Given the description of an element on the screen output the (x, y) to click on. 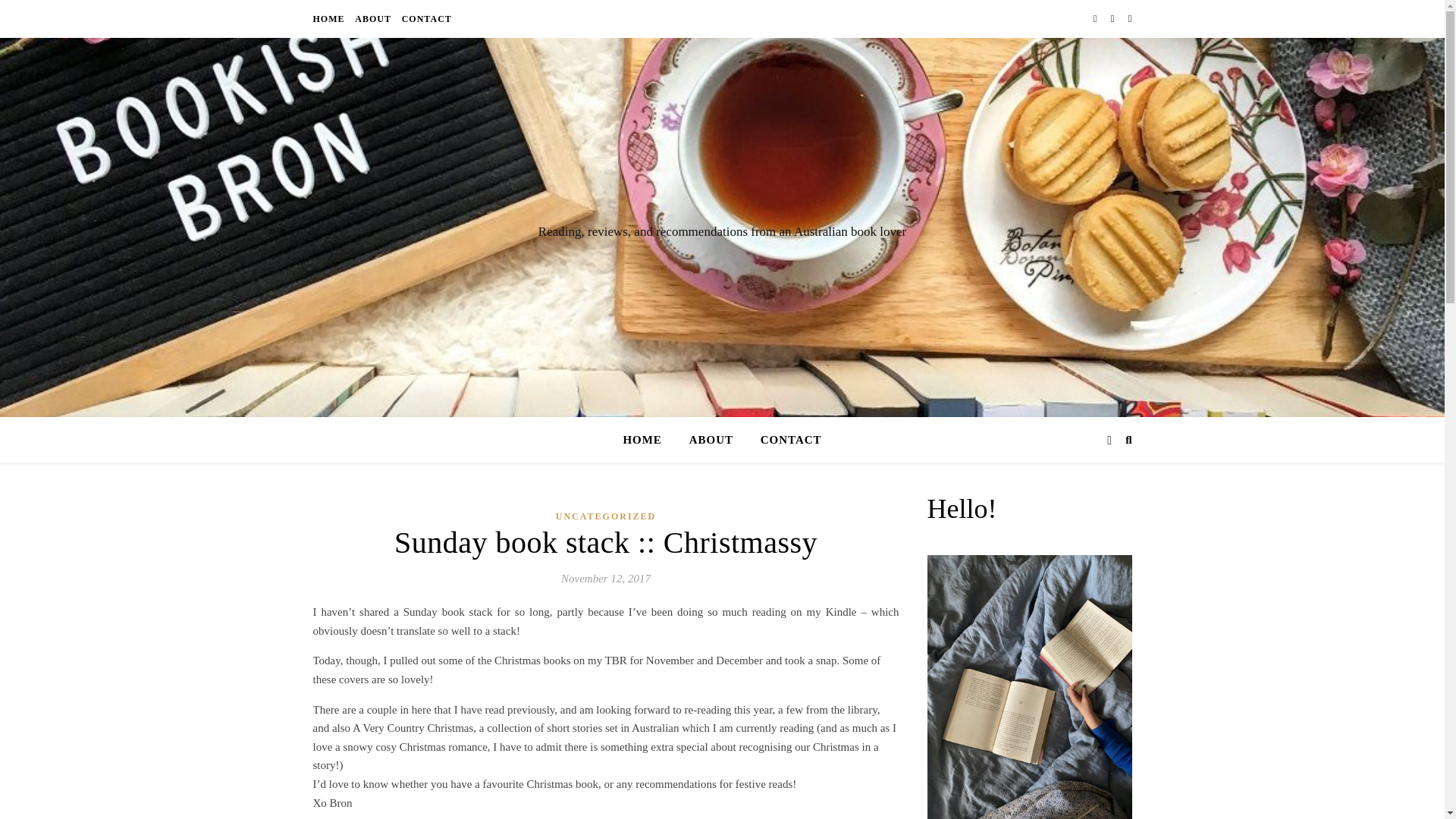
UNCATEGORIZED (606, 516)
HOME (330, 18)
ABOUT (372, 18)
CONTACT (785, 439)
HOME (648, 439)
ABOUT (711, 439)
CONTACT (424, 18)
